Given the description of an element on the screen output the (x, y) to click on. 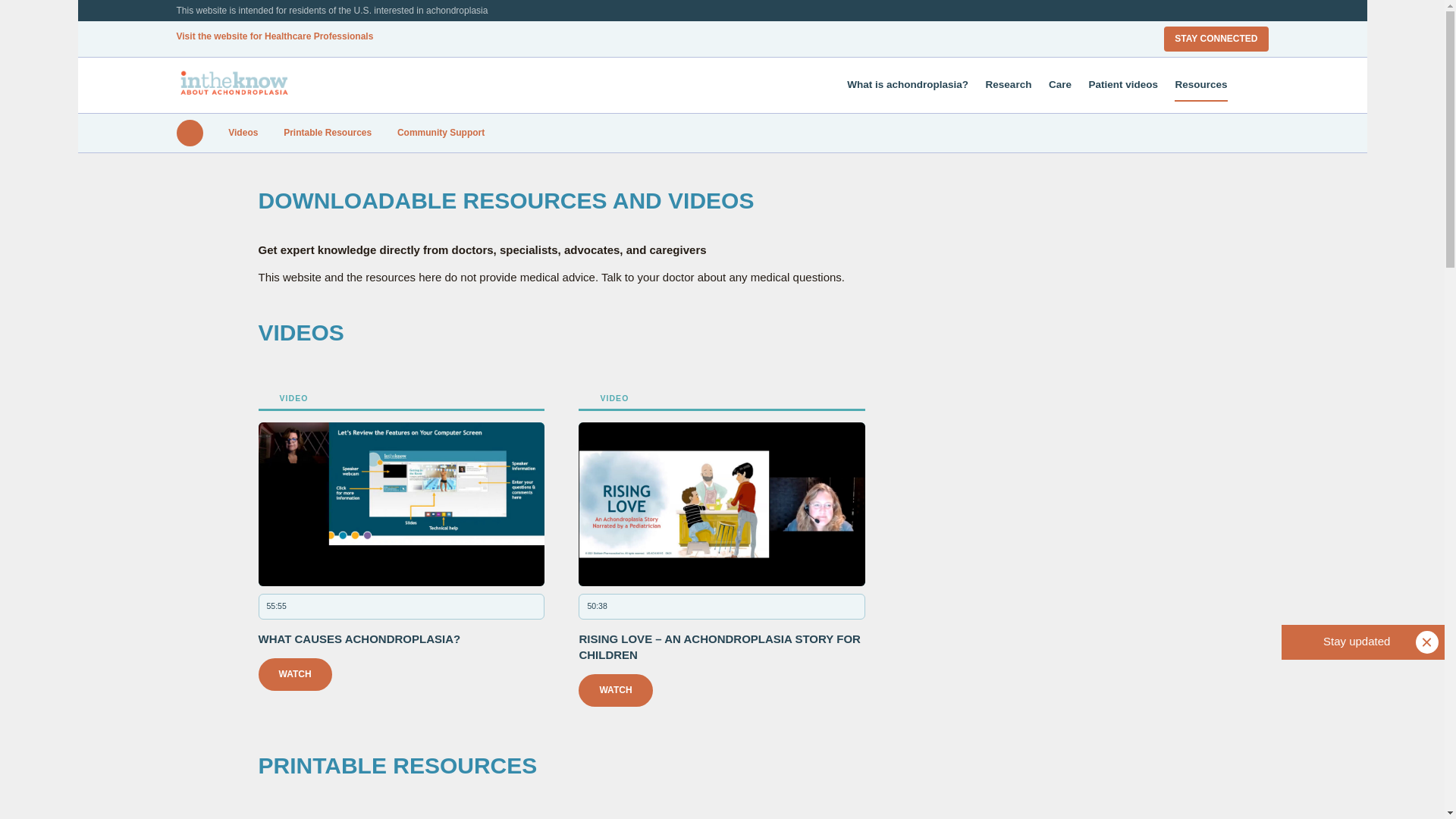
STAY CONNECTED (1215, 38)
Top (189, 132)
Patient videos (1122, 83)
What is achondroplasia? (907, 83)
Visit the website for Healthcare Professionals (274, 36)
Printable Resources (327, 132)
Search (1253, 84)
Search (1141, 63)
Videos (242, 132)
WATCH (615, 690)
